Given the description of an element on the screen output the (x, y) to click on. 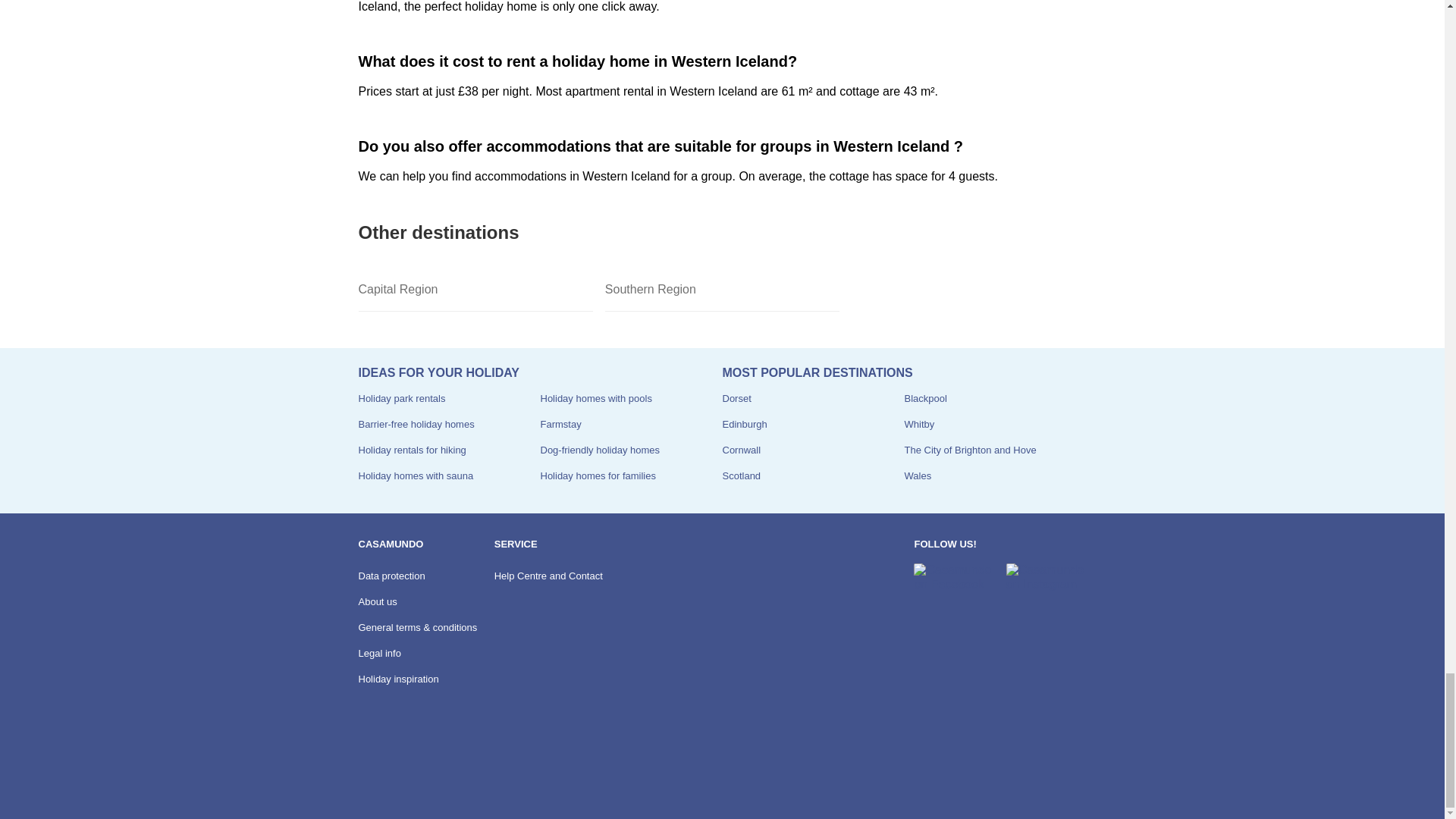
Book holiday homes and apartments - Casamundo (399, 776)
Capital Region (475, 290)
Casamundo on Facebook (953, 577)
Capital Region (475, 290)
Southern Region (722, 290)
Southern Region (722, 290)
Casamundo on Instagram (1046, 577)
